Given the description of an element on the screen output the (x, y) to click on. 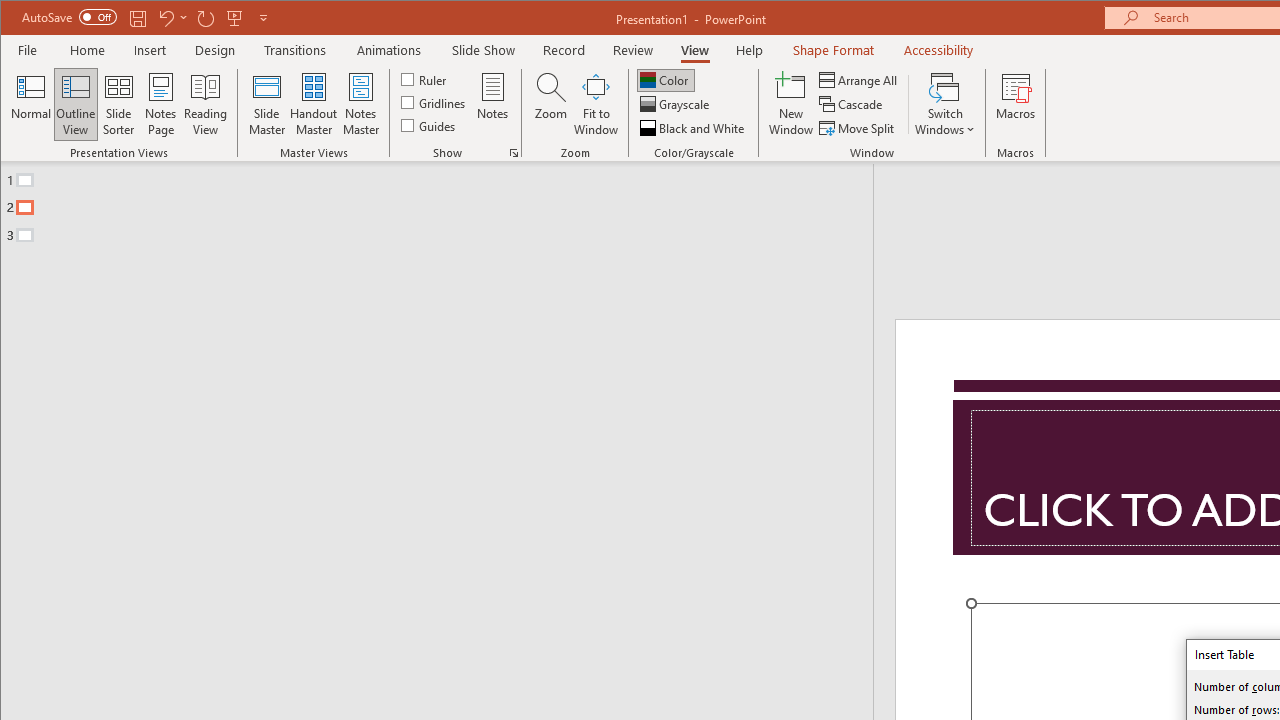
Ruler (425, 78)
Outline View (75, 104)
